Given the description of an element on the screen output the (x, y) to click on. 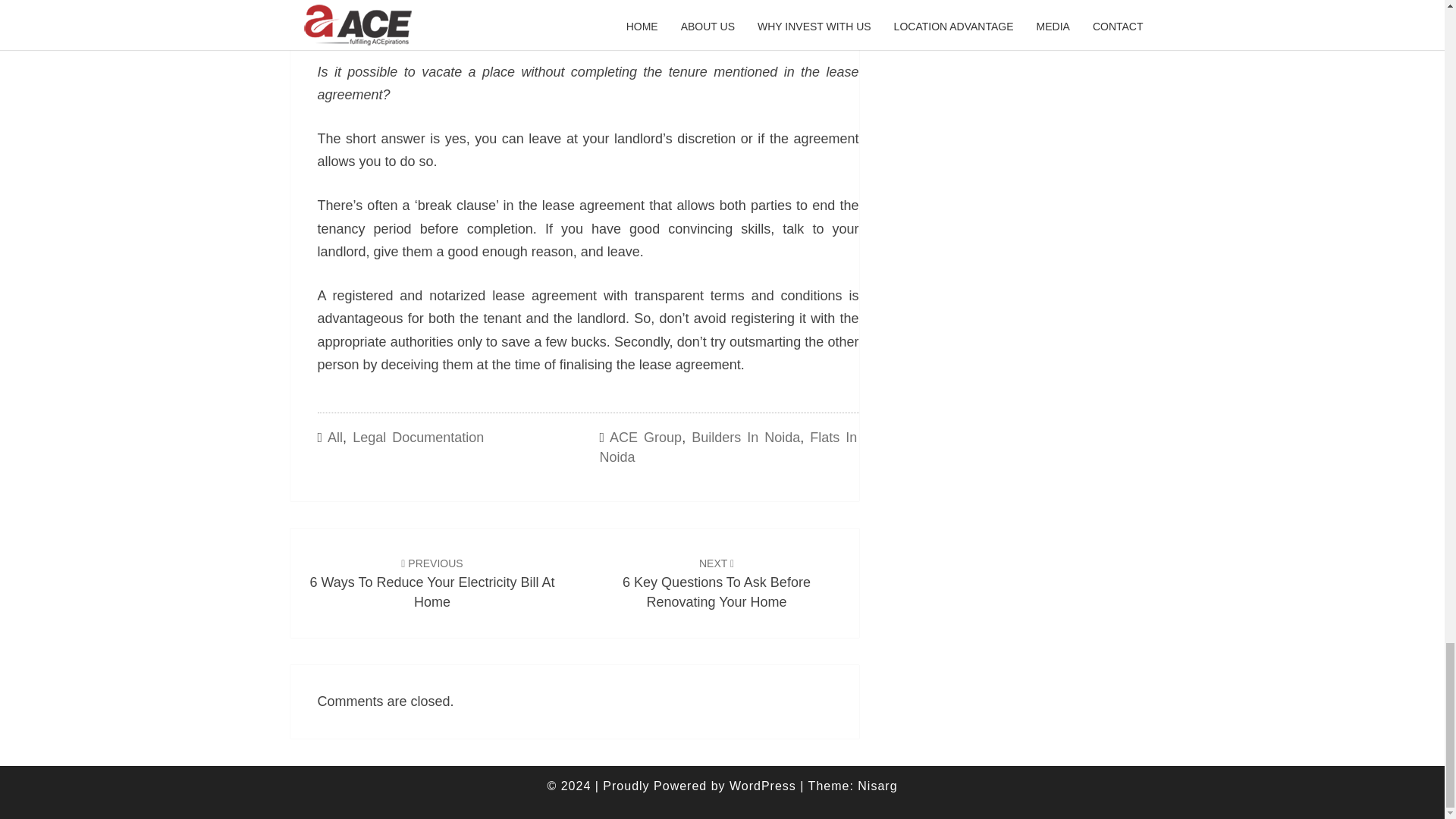
Builders In Noida (431, 582)
All (745, 437)
ACE Group (716, 582)
Legal Documentation (334, 437)
Flats In Noida (645, 437)
